Given the description of an element on the screen output the (x, y) to click on. 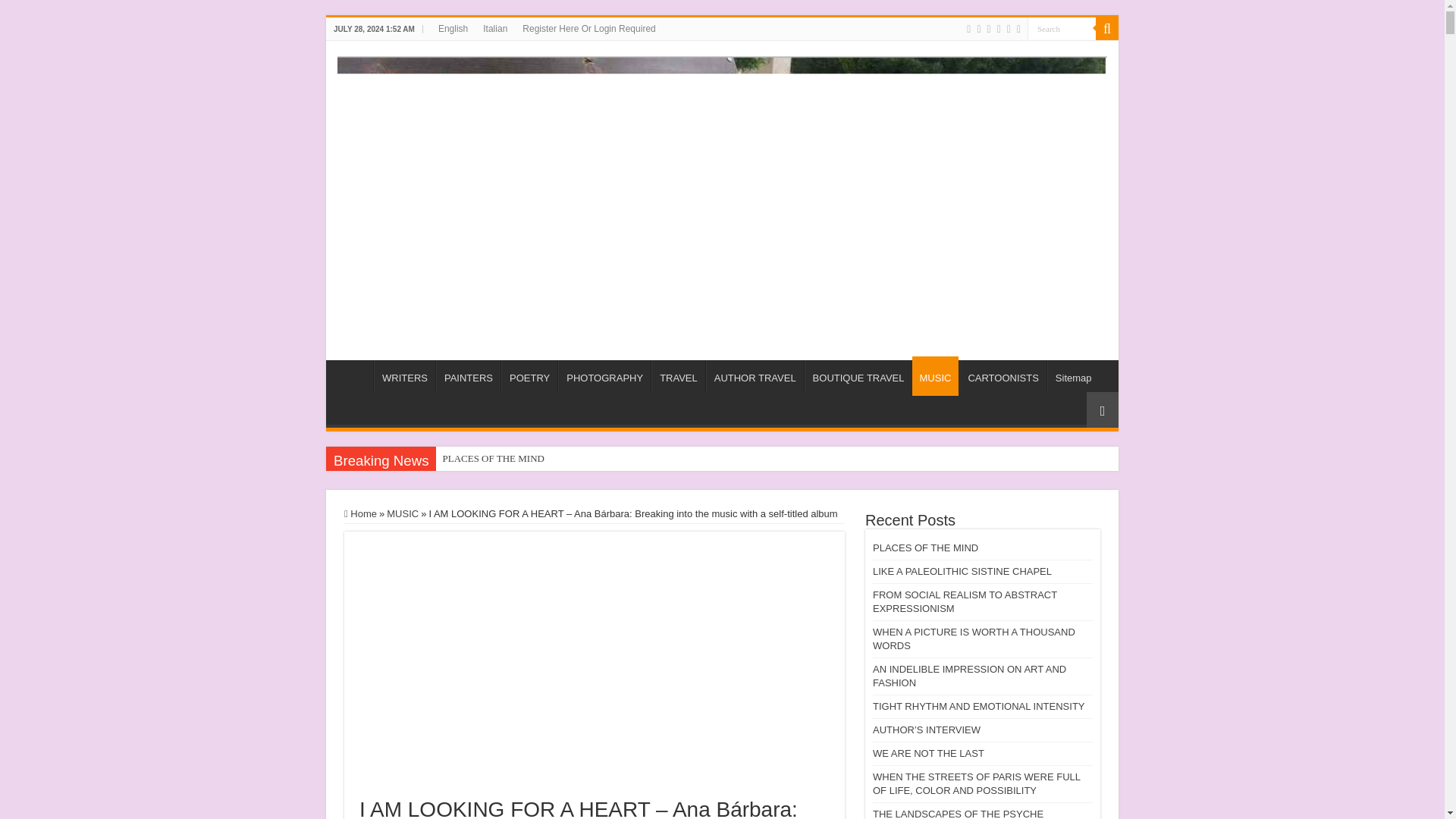
BOUTIQUE TRAVEL (858, 376)
Search (1061, 28)
Italian (495, 28)
TRAVEL (677, 376)
Twitter (988, 29)
CARTOONISTS (1002, 376)
MUSIC (934, 375)
English (453, 28)
AUTHOR TRAVEL (754, 376)
Search (1107, 28)
Search (1061, 28)
PLACES OF THE MIND (571, 458)
PAINTERS (467, 376)
Facebook (978, 29)
